Given the description of an element on the screen output the (x, y) to click on. 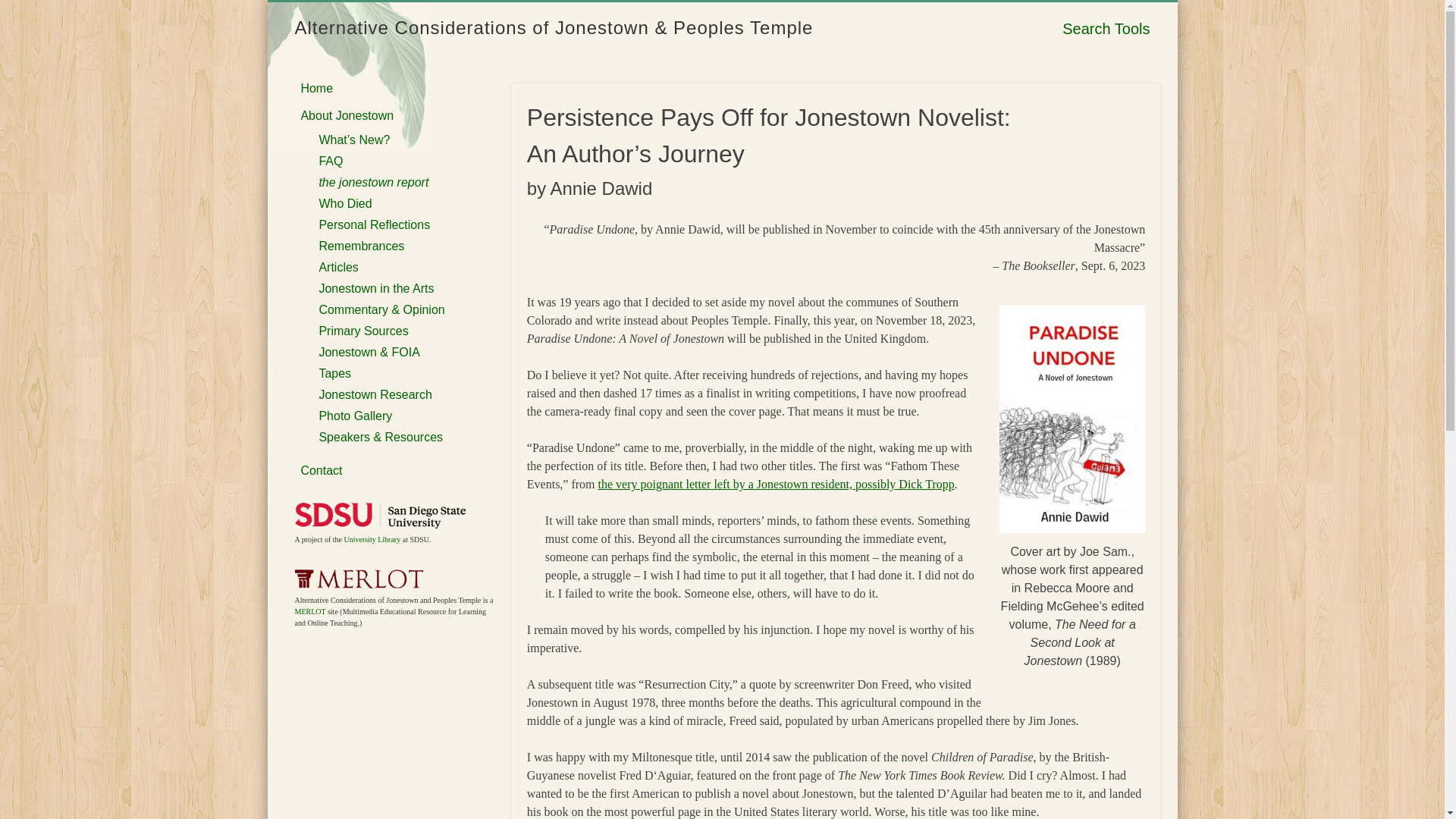
the jonestown report (373, 182)
Who Died (344, 203)
Home (316, 88)
Personal Reflections (373, 224)
About Jonestown (346, 115)
Remembrances (361, 245)
Search Tools (1106, 28)
FAQ (330, 160)
